Given the description of an element on the screen output the (x, y) to click on. 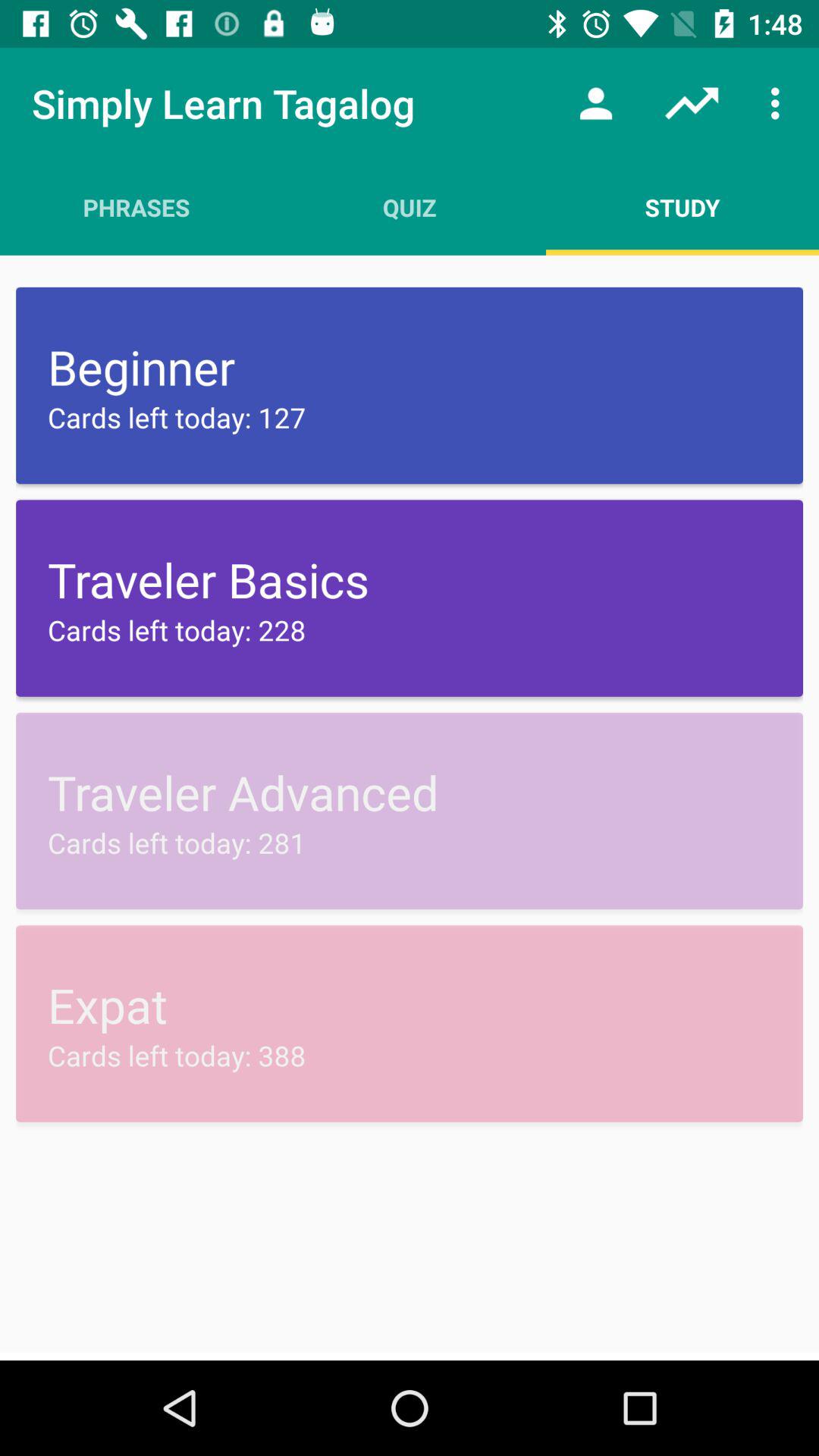
launch item above beginner (682, 207)
